Given the description of an element on the screen output the (x, y) to click on. 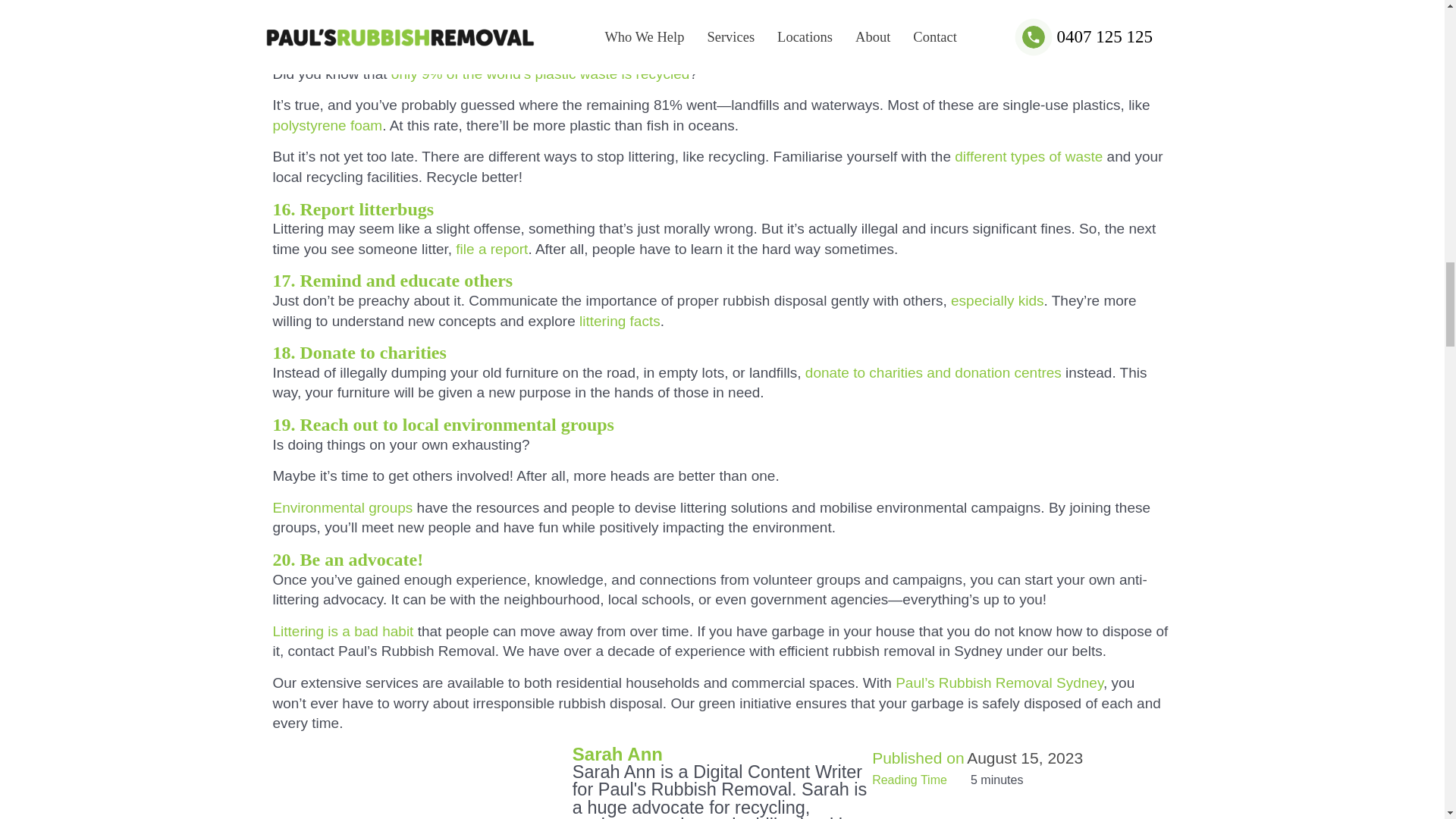
especially kids (996, 300)
Environmental groups (343, 507)
donate to charities and donation centres (933, 372)
different types of waste (1028, 156)
file a report (491, 248)
polystyrene foam (327, 125)
littering facts (620, 320)
Littering is a bad habit (343, 631)
